Given the description of an element on the screen output the (x, y) to click on. 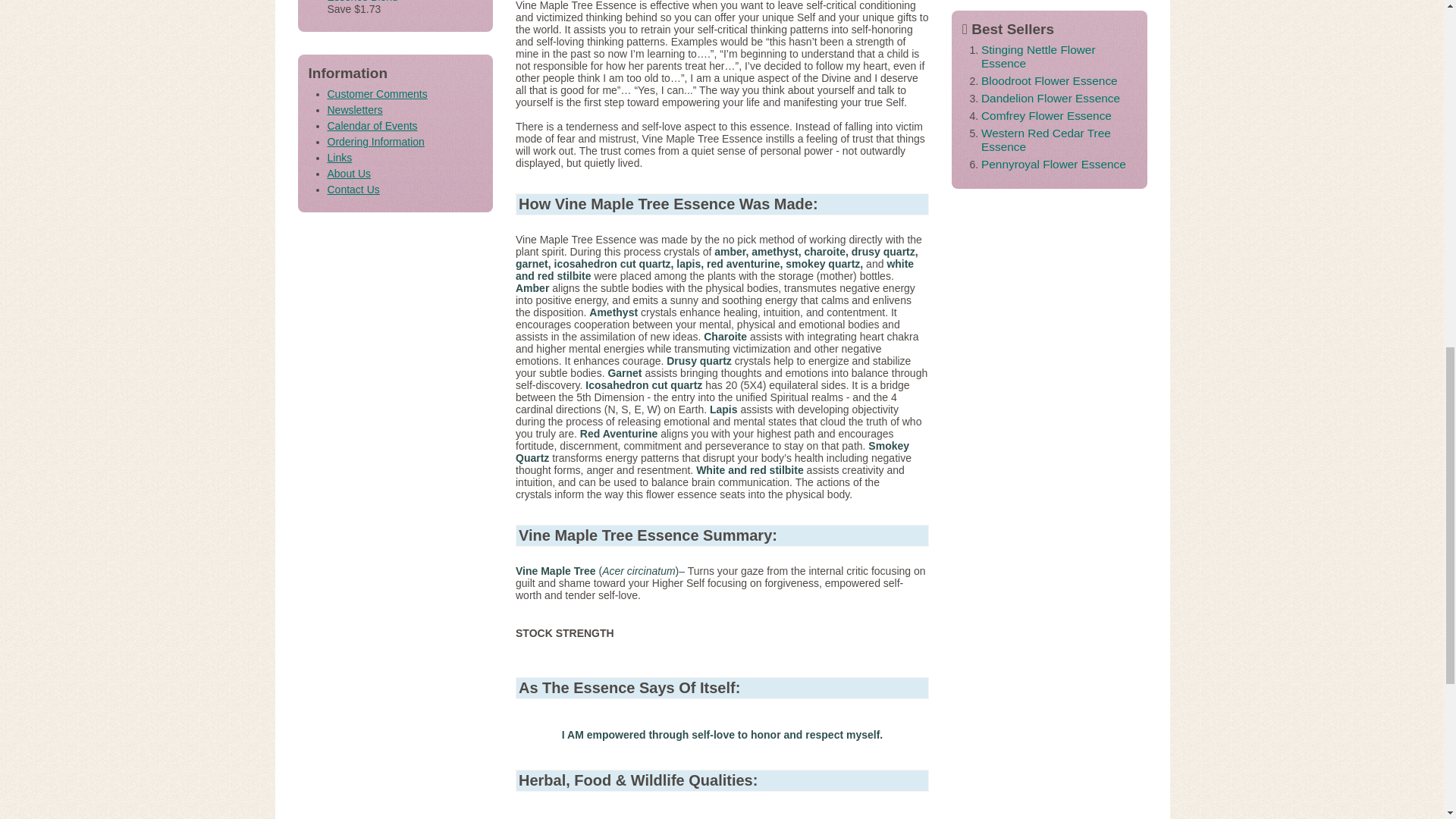
Contact Us (353, 189)
Calendar of Events (372, 125)
Links (339, 157)
Customer Comments (377, 93)
About Us (349, 173)
DuRen Energy Meridian Essence Blend (384, 1)
Newsletters (354, 110)
Ordering Information (376, 141)
